Given the description of an element on the screen output the (x, y) to click on. 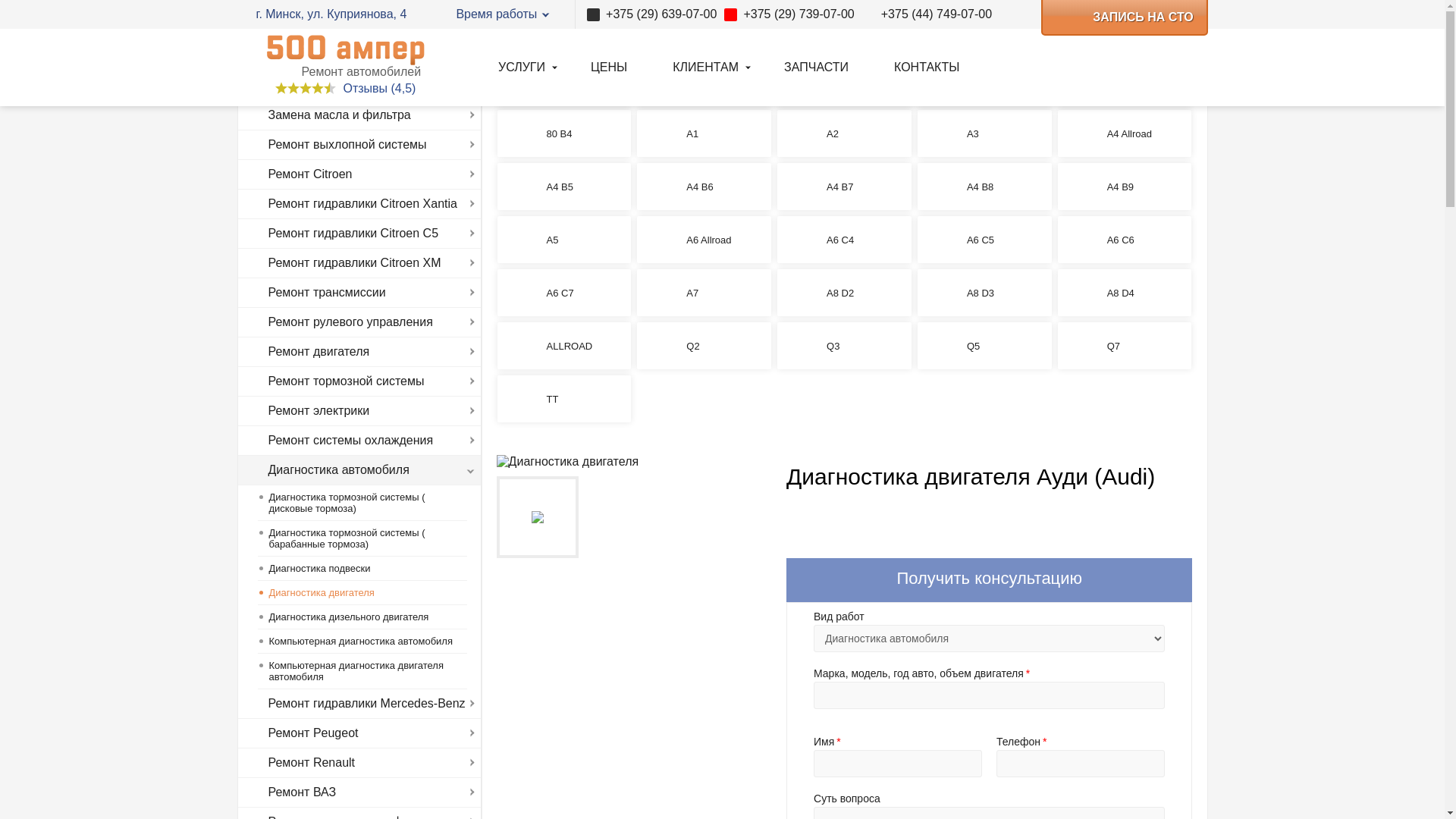
+375 (44) 749-07-00 Element type: text (926, 14)
A5 Element type: text (564, 239)
+375 (29) 739-07-00 Element type: text (788, 14)
A4 B7 Element type: text (844, 186)
A6 C6 Element type: text (1124, 239)
A4 B6 Element type: text (704, 186)
A6 C5 Element type: text (984, 239)
Q5 Element type: text (984, 345)
A4 B8 Element type: text (984, 186)
80 B2 Element type: text (984, 79)
A6 C7 Element type: text (564, 292)
+375 (29) 639-07-00 Element type: text (651, 14)
A7 Element type: text (704, 292)
A8 D2 Element type: text (844, 292)
ALLROAD Element type: text (564, 345)
A6 C4 Element type: text (844, 239)
A1 Element type: text (704, 132)
A8 D4 Element type: text (1124, 292)
Q3 Element type: text (844, 345)
A4 B5 Element type: text (564, 186)
A4 Allroad Element type: text (1124, 132)
200 Element type: text (844, 79)
Q7 Element type: text (1124, 345)
TT Element type: text (564, 398)
A2 Element type: text (844, 132)
80 B4 Element type: text (564, 132)
A8 D3 Element type: text (984, 292)
Q2 Element type: text (704, 345)
80 B3 Element type: text (1124, 79)
A3 Element type: text (984, 132)
A6 Allroad Element type: text (704, 239)
A4 B9 Element type: text (1124, 186)
